Given the description of an element on the screen output the (x, y) to click on. 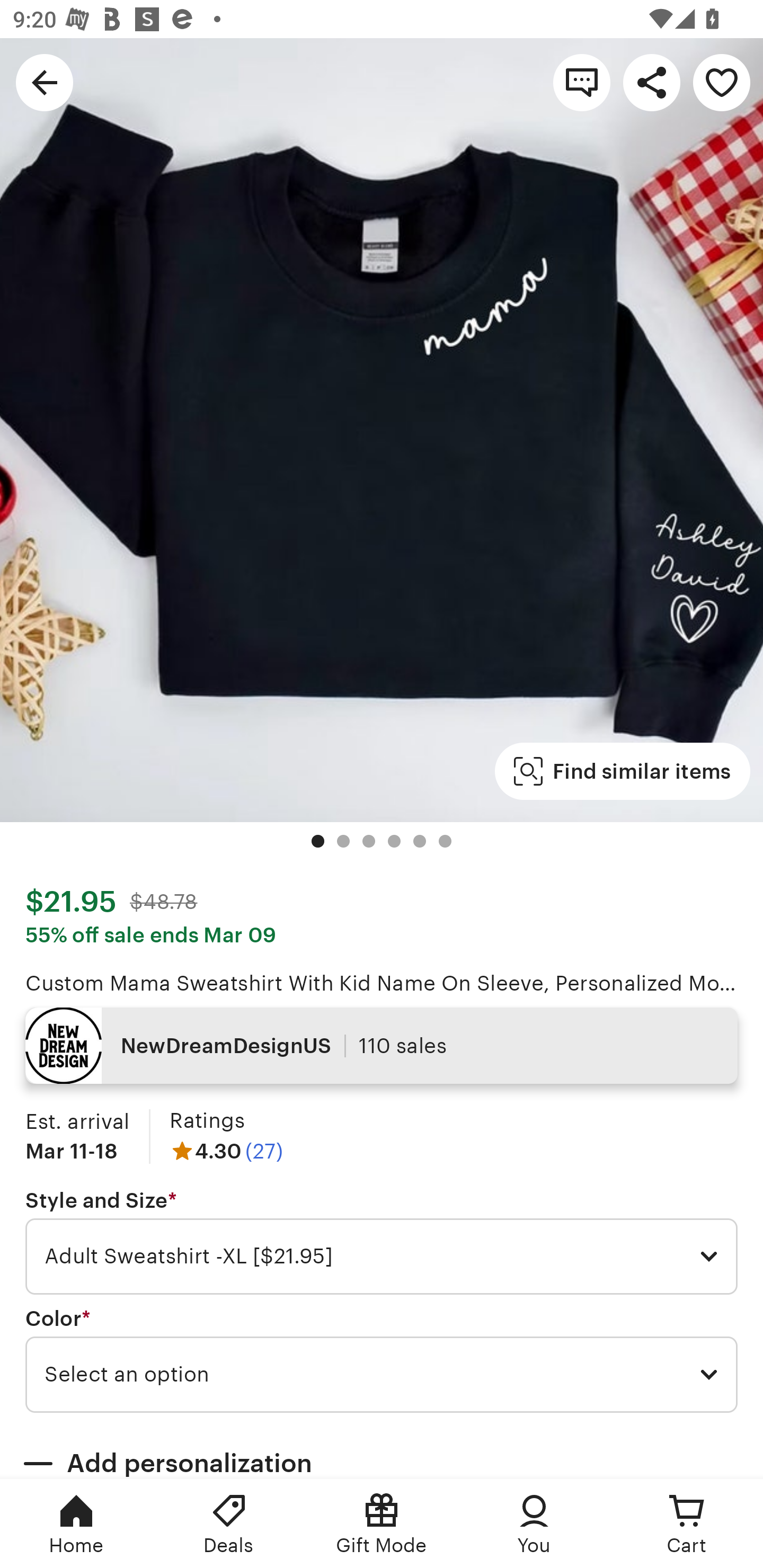
Navigate up (44, 81)
Contact shop (581, 81)
Share (651, 81)
Find similar items (622, 771)
NewDreamDesignUS 110 sales (381, 1045)
Ratings (206, 1120)
4.30 (27) (226, 1150)
Adult Sweatshirt -XL [$21.95] (381, 1256)
Color * Required Select an option (381, 1359)
Select an option (381, 1373)
Add personalization Add personalization Required (381, 1451)
Deals (228, 1523)
Gift Mode (381, 1523)
You (533, 1523)
Cart (686, 1523)
